Given the description of an element on the screen output the (x, y) to click on. 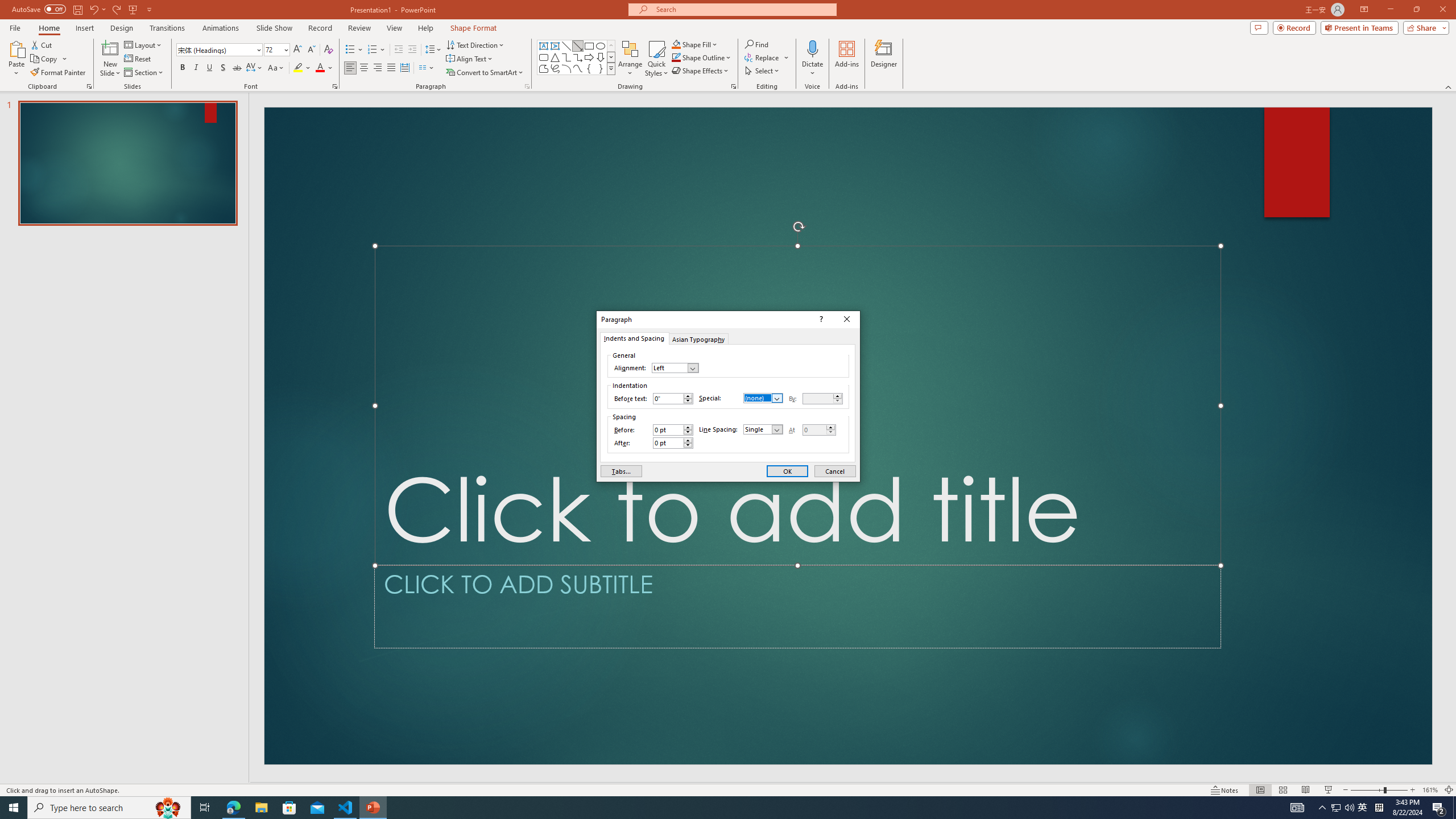
Section (144, 72)
Shadow (223, 67)
After (667, 442)
Font... (334, 85)
Arc (566, 68)
Before text (672, 398)
Text Box (543, 45)
Action Center, 2 new notifications (1439, 807)
Strikethrough (237, 67)
